Given the description of an element on the screen output the (x, y) to click on. 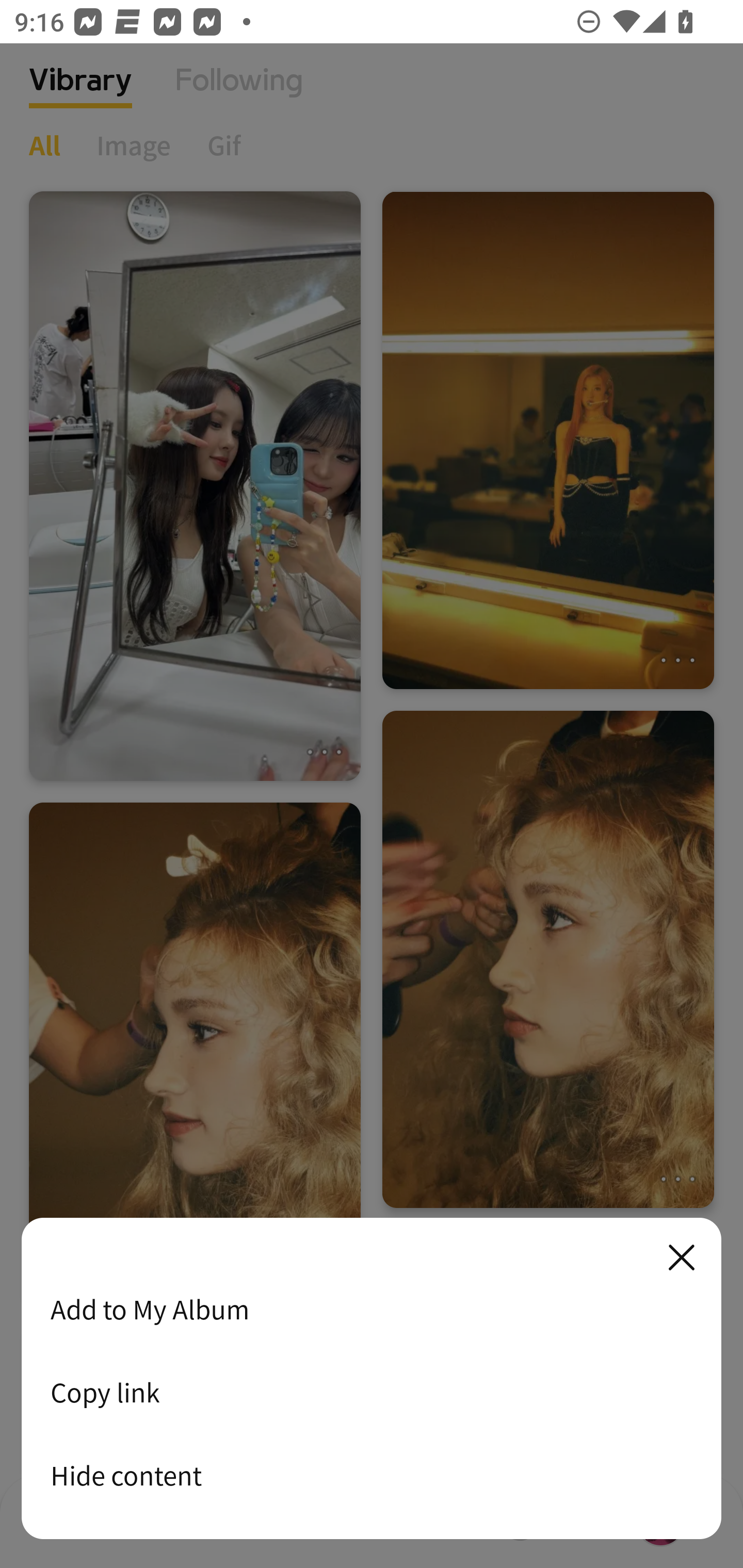
Add to My Album Copy link Hide content (371, 1378)
Add to My Album (371, 1308)
Copy link (371, 1391)
Hide content (371, 1474)
